Given the description of an element on the screen output the (x, y) to click on. 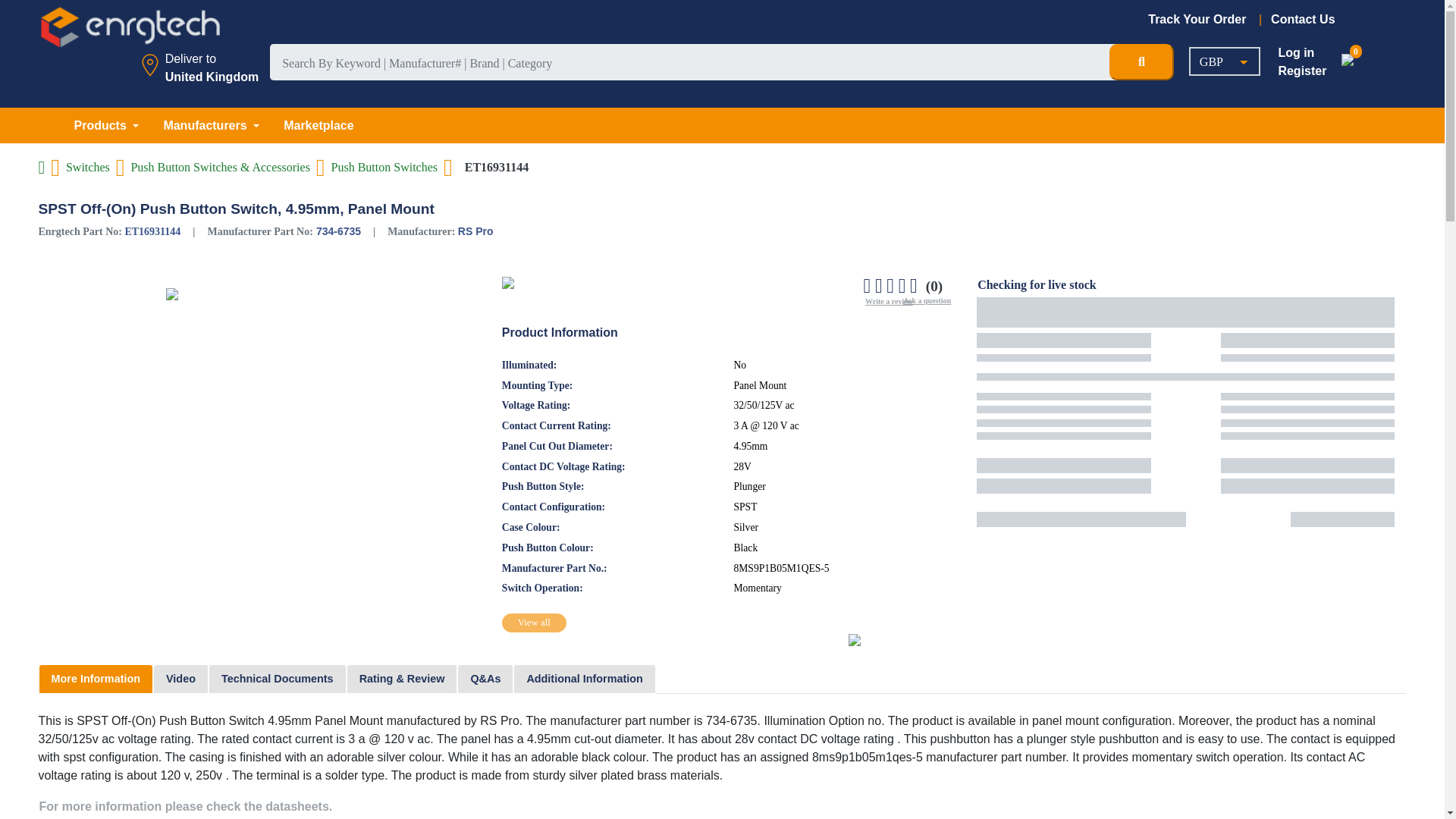
Products (106, 124)
Manufacturers (210, 124)
Push Button Switches (384, 166)
Contact Us (1303, 18)
Track Your Order (1205, 18)
Switches (87, 166)
Register (1302, 70)
Log in (1296, 51)
